Given the description of an element on the screen output the (x, y) to click on. 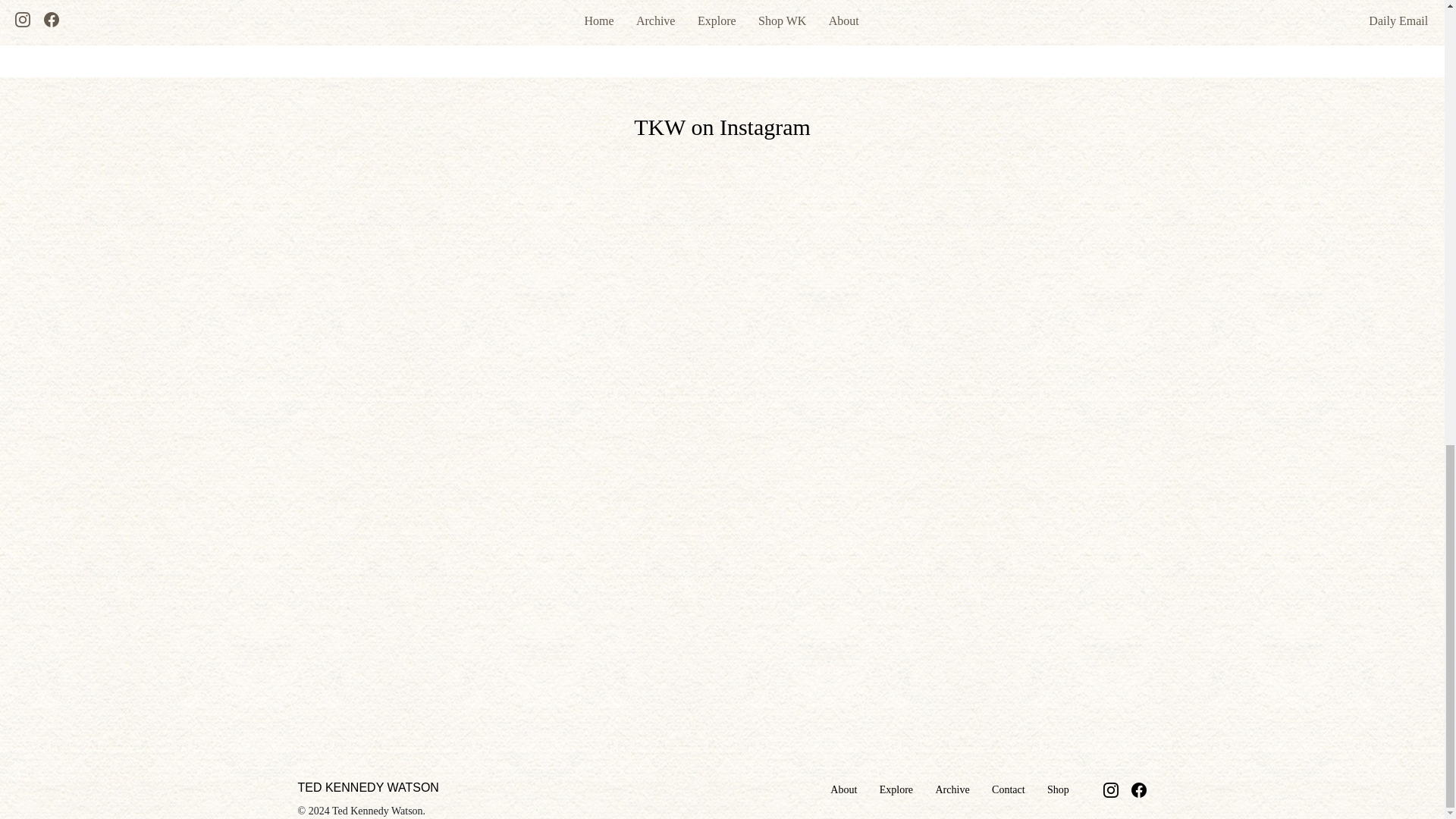
TKW on Instagram (722, 126)
Love (655, 2)
Food (596, 2)
Entertaining (550, 2)
Life (627, 2)
